Given the description of an element on the screen output the (x, y) to click on. 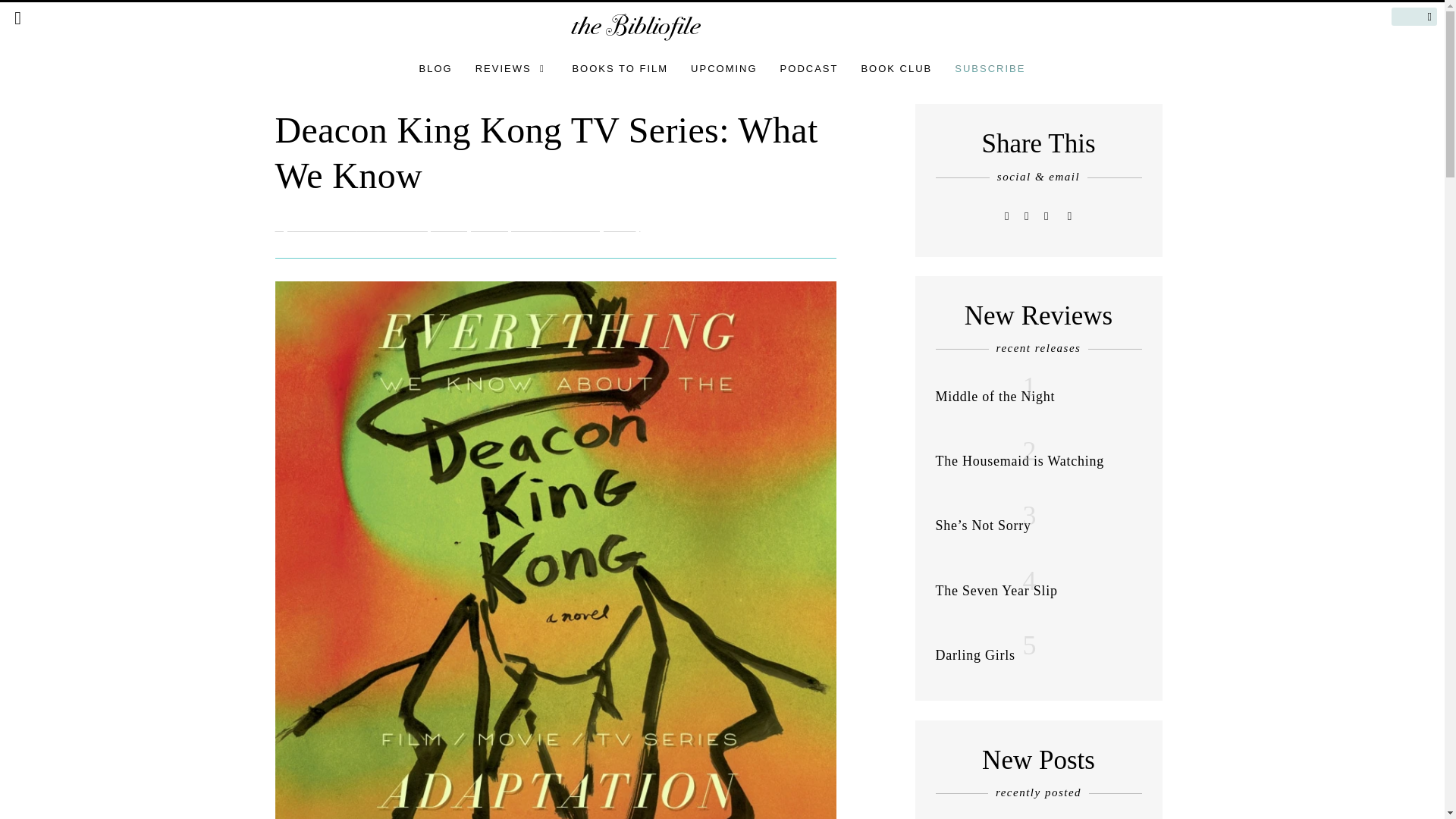
The Seven Year Slip (997, 590)
BOOKS TO FILM (620, 68)
Deacon King Kong TV Series: What We Know (545, 152)
BLOG (435, 68)
PODCAST (809, 68)
REVIEWS (513, 68)
SUBSCRIBE (990, 68)
Tweet This (1006, 215)
UPCOMING (723, 68)
Darling Girls (975, 654)
